Given the description of an element on the screen output the (x, y) to click on. 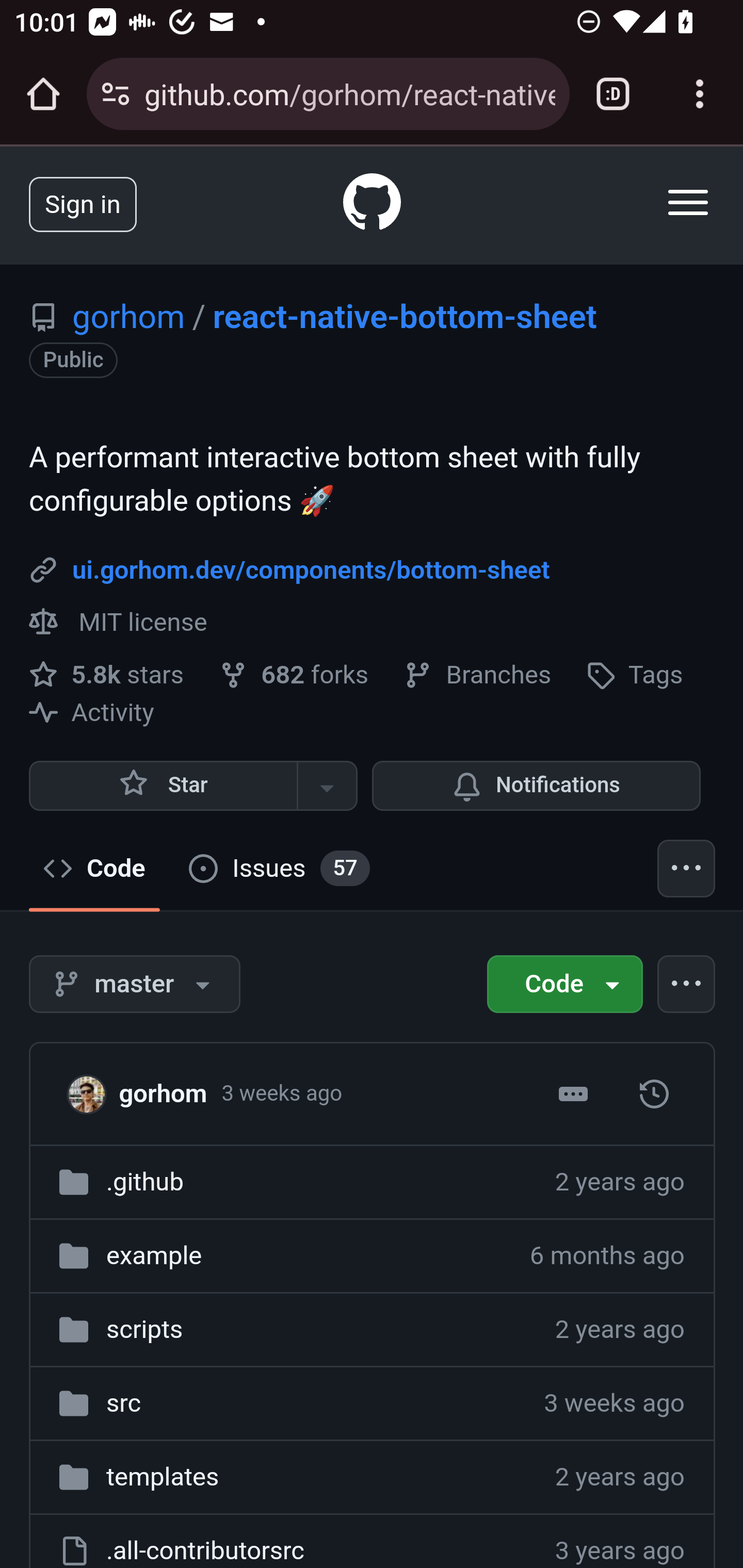
Open the home page (43, 93)
Connection is secure (115, 93)
Switch or close tabs (612, 93)
Customize and control Google Chrome (699, 93)
github.com/gorhom/react-native-bottom-sheet (349, 92)
Homepage (372, 205)
Toggle navigation (688, 202)
Sign in (82, 203)
gorhom (128, 317)
react-native-bottom-sheet (404, 317)
ui.gorhom.dev/components/bottom-sheet (311, 569)
 MIT license (117, 621)
Branches (477, 674)
Tags (634, 674)
5.8k stars  5.8k  stars  (109, 673)
682 forks  682  forks  (296, 673)
Activity (91, 712)
You must be signed in to star a repository  Star (162, 786)
Additional navigation options (686, 867)
Code (94, 869)
Issues 57 Issues 57 (278, 869)
master branch (135, 983)
Code (564, 983)
Open more actions menu (686, 983)
Open commit details (573, 1092)
master (654, 1092)
gorhom (91, 1093)
commits by gorhom gorhom (162, 1092)
.github, (Directory) .github (144, 1181)
example, (Directory) example (153, 1255)
scripts, (Directory) scripts (144, 1329)
src, (Directory) src (123, 1402)
templates, (Directory) templates (162, 1475)
.all-contributorsrc, (File) .all-contributorsrc (204, 1550)
